Given the description of an element on the screen output the (x, y) to click on. 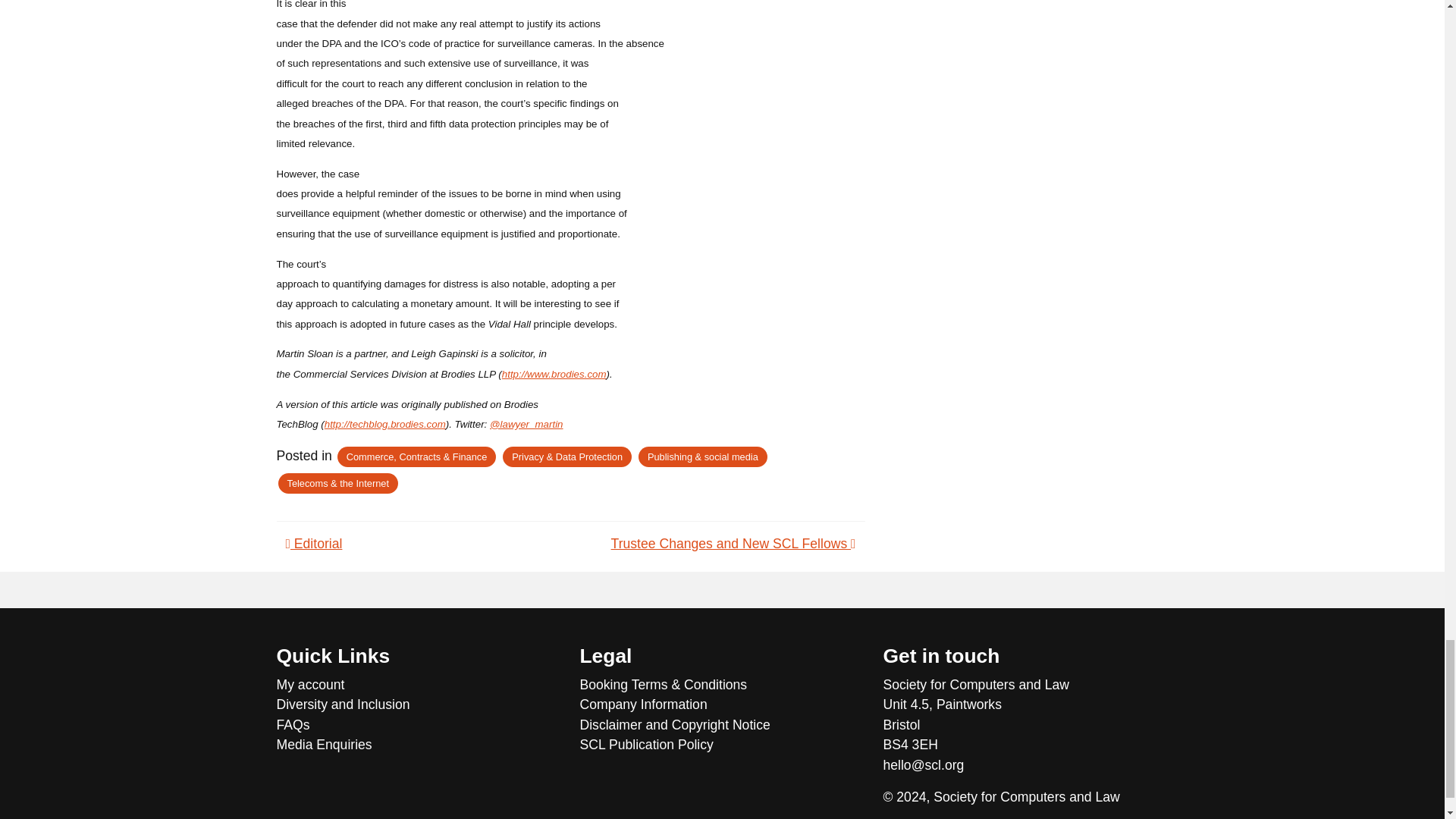
My account (418, 684)
FAQs (418, 724)
Media Enquiries (418, 744)
Diversity and Inclusion (418, 704)
Trustee Changes and New SCL Fellows  (733, 543)
 Editorial (313, 543)
Company Information (721, 704)
